Given the description of an element on the screen output the (x, y) to click on. 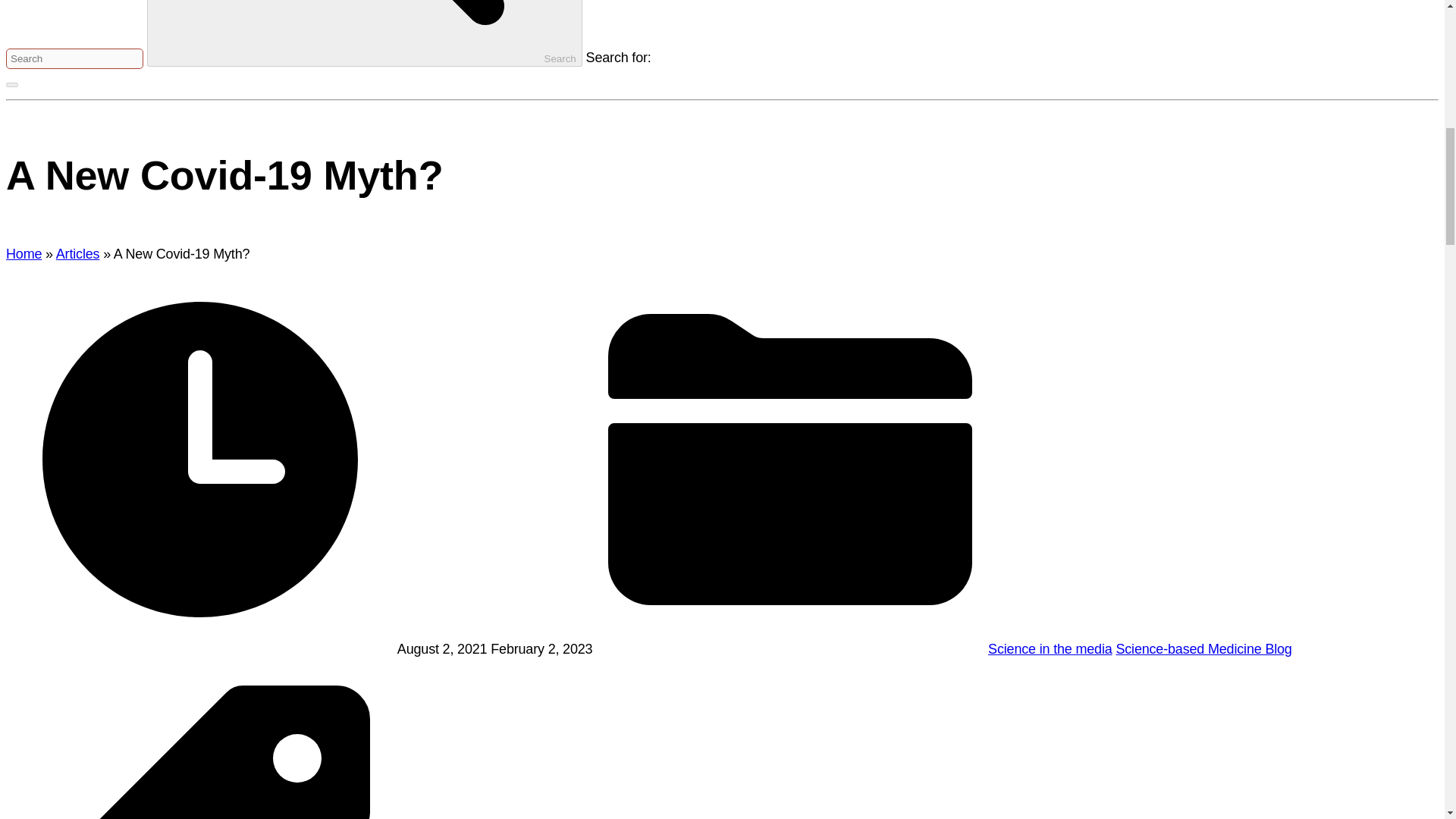
Articles (78, 253)
Home (23, 253)
Science-based Medicine Blog (1203, 648)
Search (364, 33)
Science in the media (1050, 648)
